Given the description of an element on the screen output the (x, y) to click on. 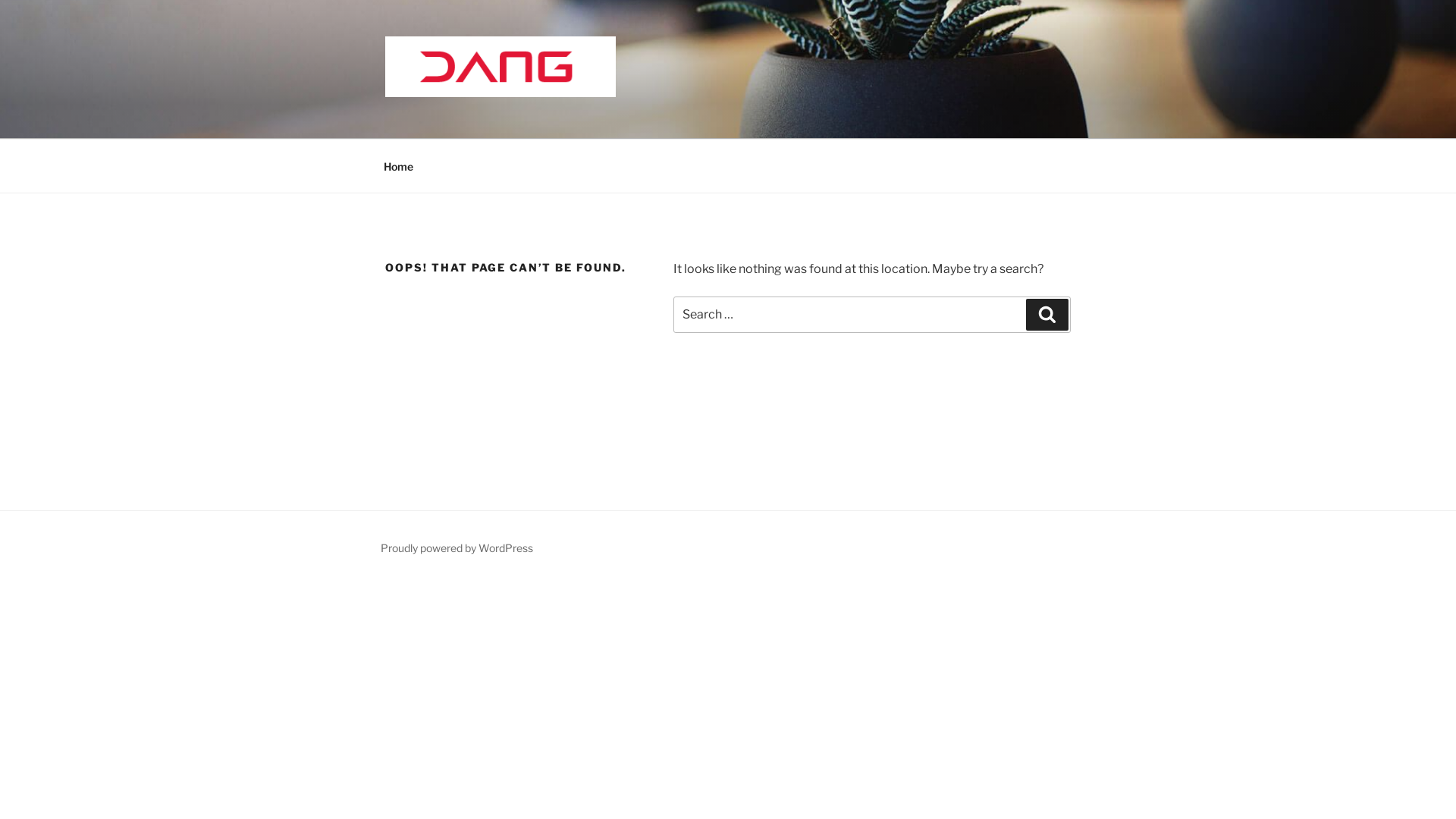
Search Element type: text (1047, 314)
Proudly powered by WordPress Element type: text (456, 547)
Home Element type: text (398, 165)
